Given the description of an element on the screen output the (x, y) to click on. 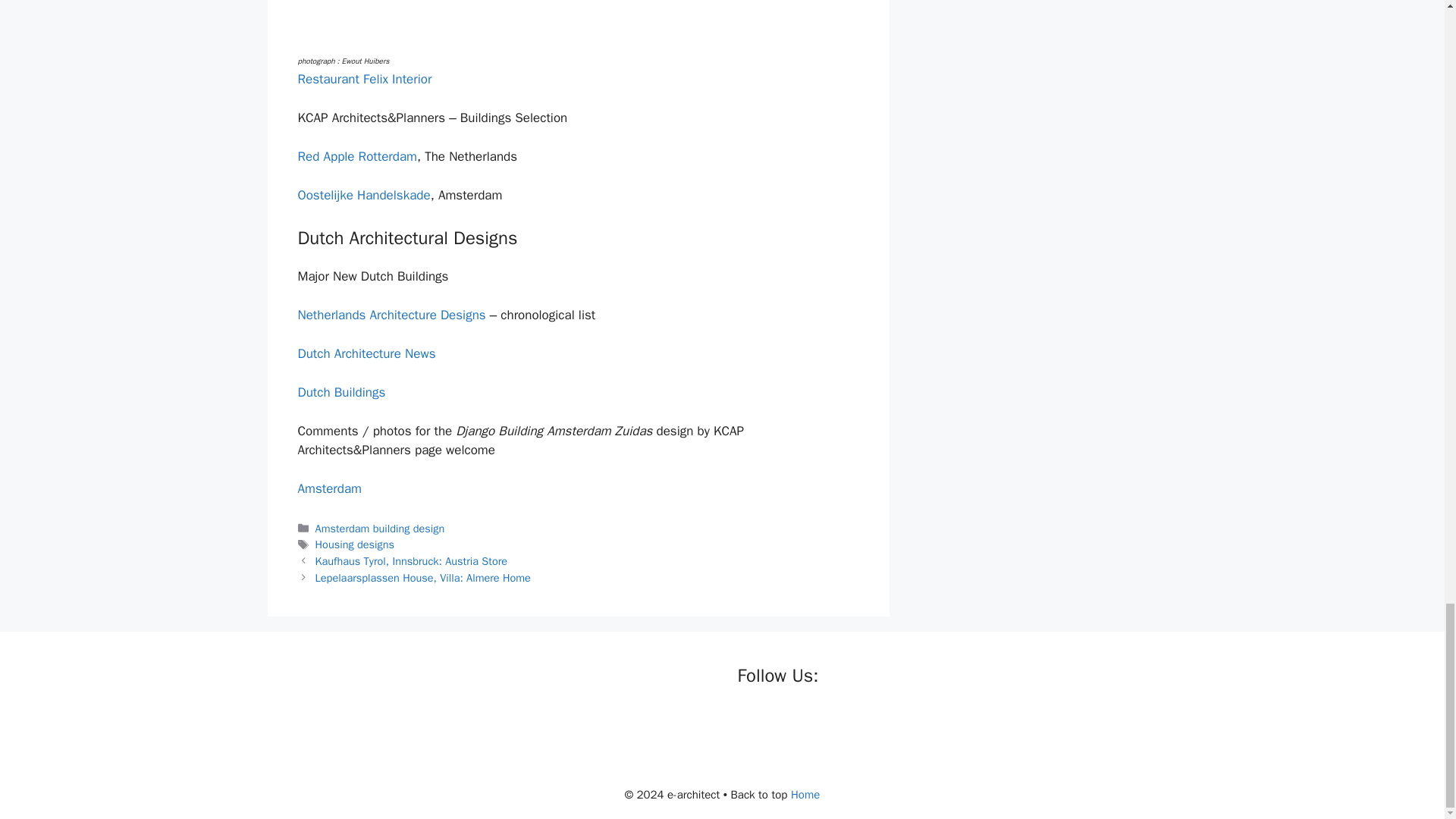
Restaurant Felix Interior (363, 78)
twitter (781, 722)
linkedin (811, 722)
facebook (749, 722)
instagram (842, 722)
